Given the description of an element on the screen output the (x, y) to click on. 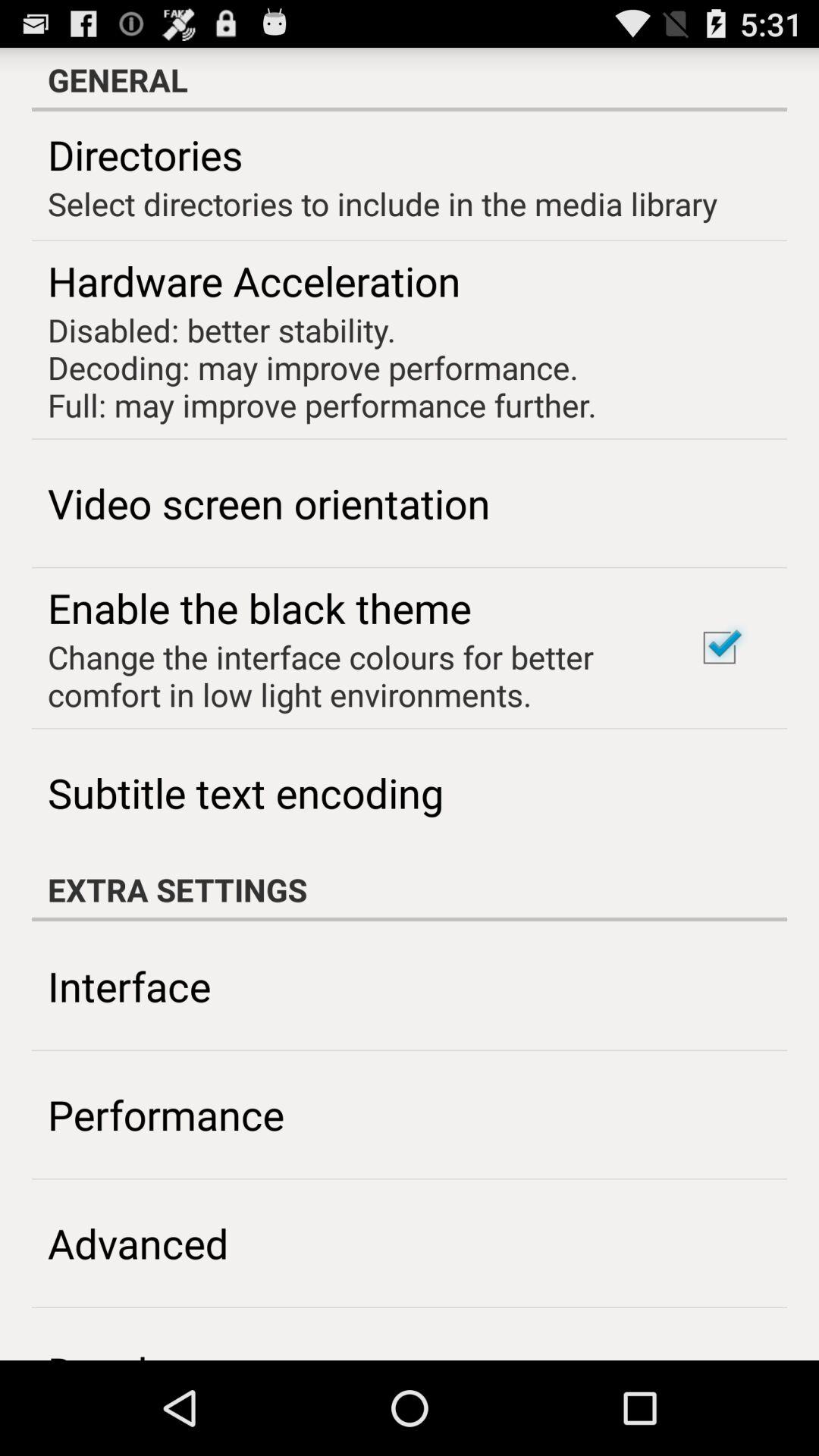
choose disabled better stability item (321, 367)
